Given the description of an element on the screen output the (x, y) to click on. 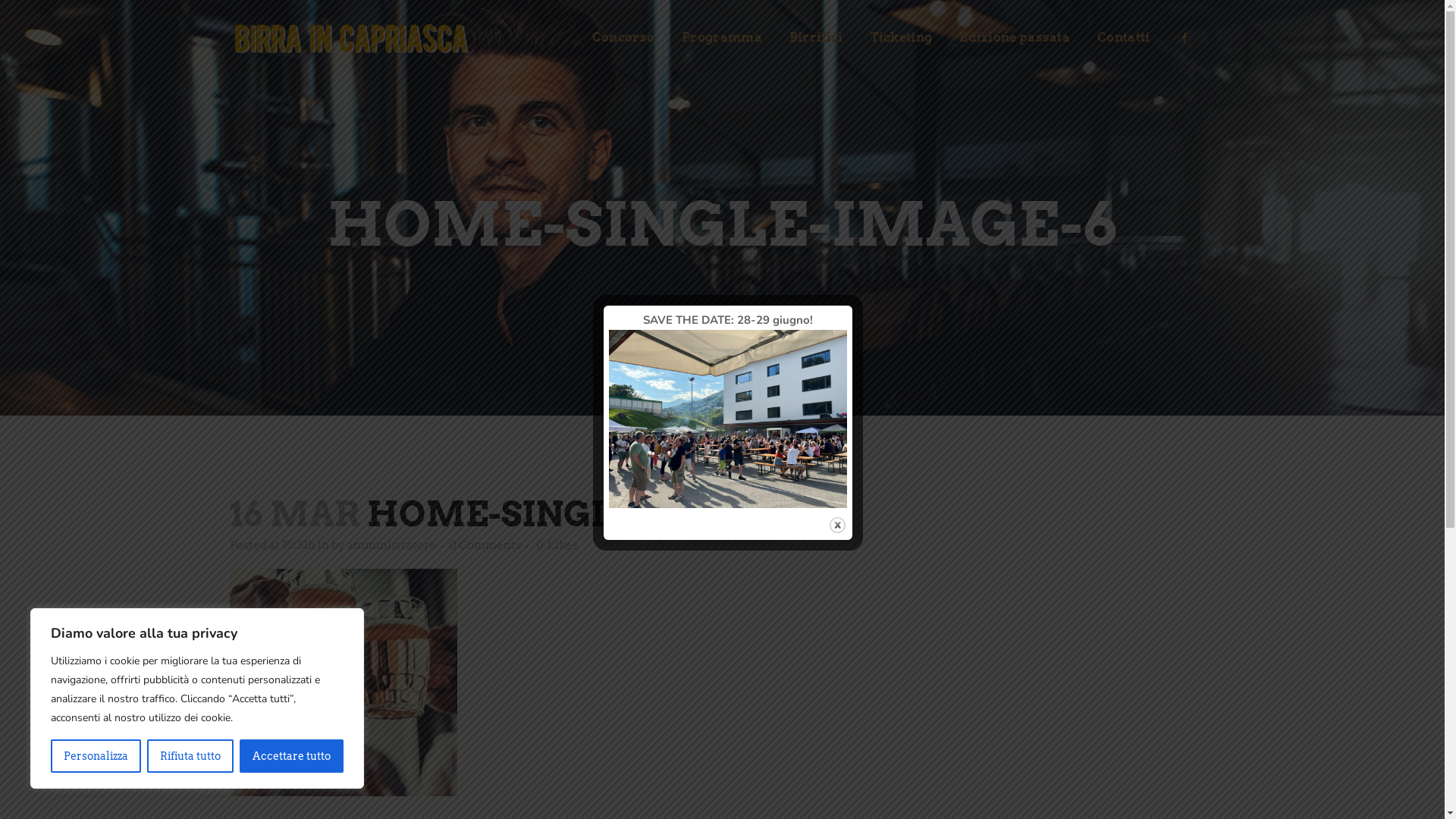
Programma Element type: text (721, 37)
Edizione passata Element type: text (1014, 37)
Rifiuta tutto Element type: text (190, 755)
0 Comments Element type: text (484, 545)
Ticketing Element type: text (901, 37)
Accettare tutto Element type: text (291, 755)
0 Likes Element type: text (556, 544)
Personalizza Element type: text (95, 755)
Contatti Element type: text (1123, 37)
Close Element type: hover (837, 525)
amministratore Element type: text (391, 545)
Birrifici Element type: text (815, 37)
Concorso Element type: text (623, 37)
